Given the description of an element on the screen output the (x, y) to click on. 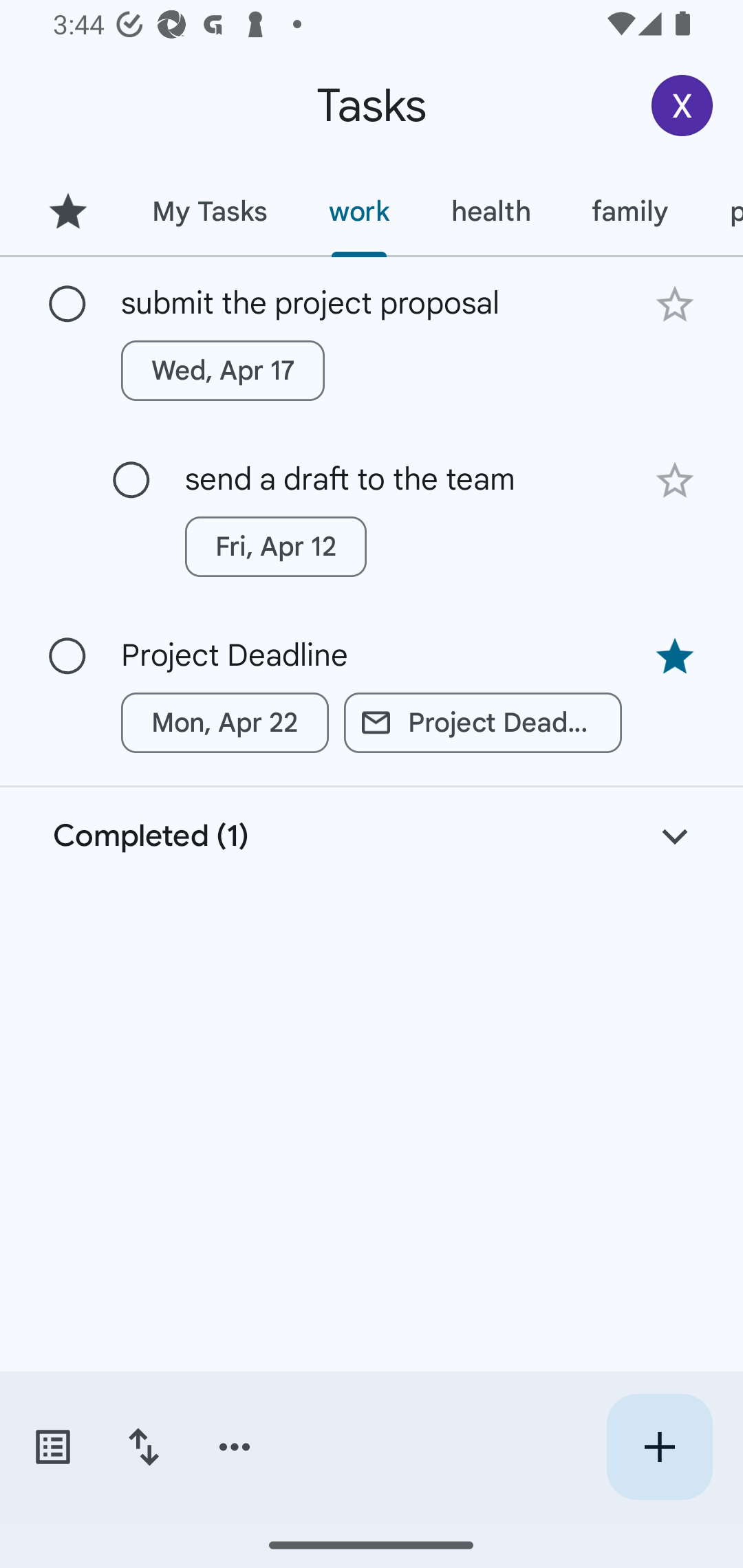
Starred (67, 211)
My Tasks (209, 211)
health (490, 211)
family (629, 211)
Add star (674, 303)
Mark as complete (67, 304)
Wed, Apr 17 (222, 369)
Add star (674, 480)
Mark as complete (131, 480)
Fri, Apr 12 (276, 546)
Remove star (674, 656)
Mark as complete (67, 655)
Mon, Apr 22 (225, 722)
Project Deadline Related link (482, 722)
Completed (1) (371, 836)
Switch task lists (52, 1447)
Create new task (659, 1446)
Change sort order (143, 1446)
More options (234, 1446)
